Given the description of an element on the screen output the (x, y) to click on. 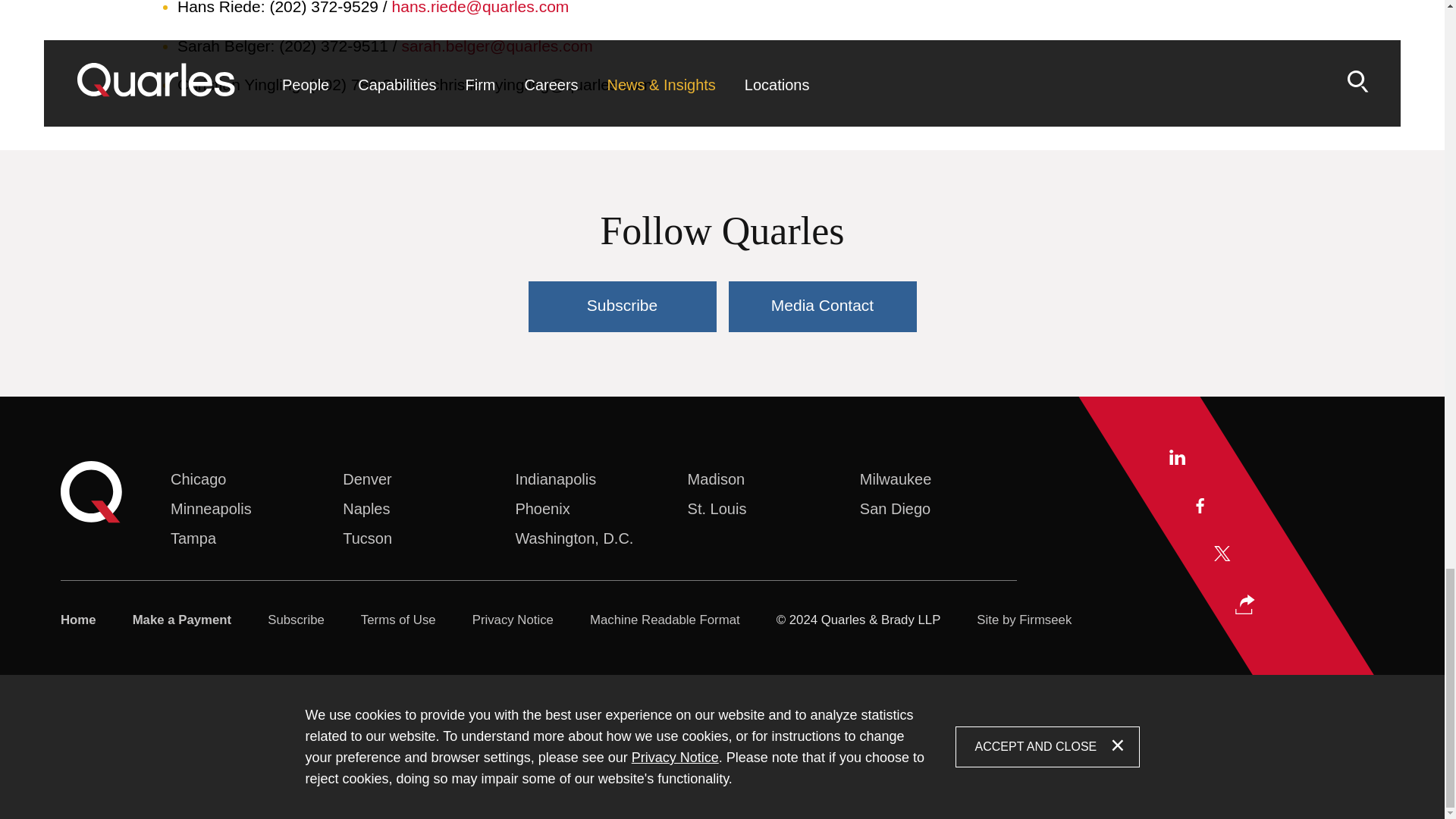
X (1222, 554)
Share (1244, 604)
Linkedin (1177, 457)
